Given the description of an element on the screen output the (x, y) to click on. 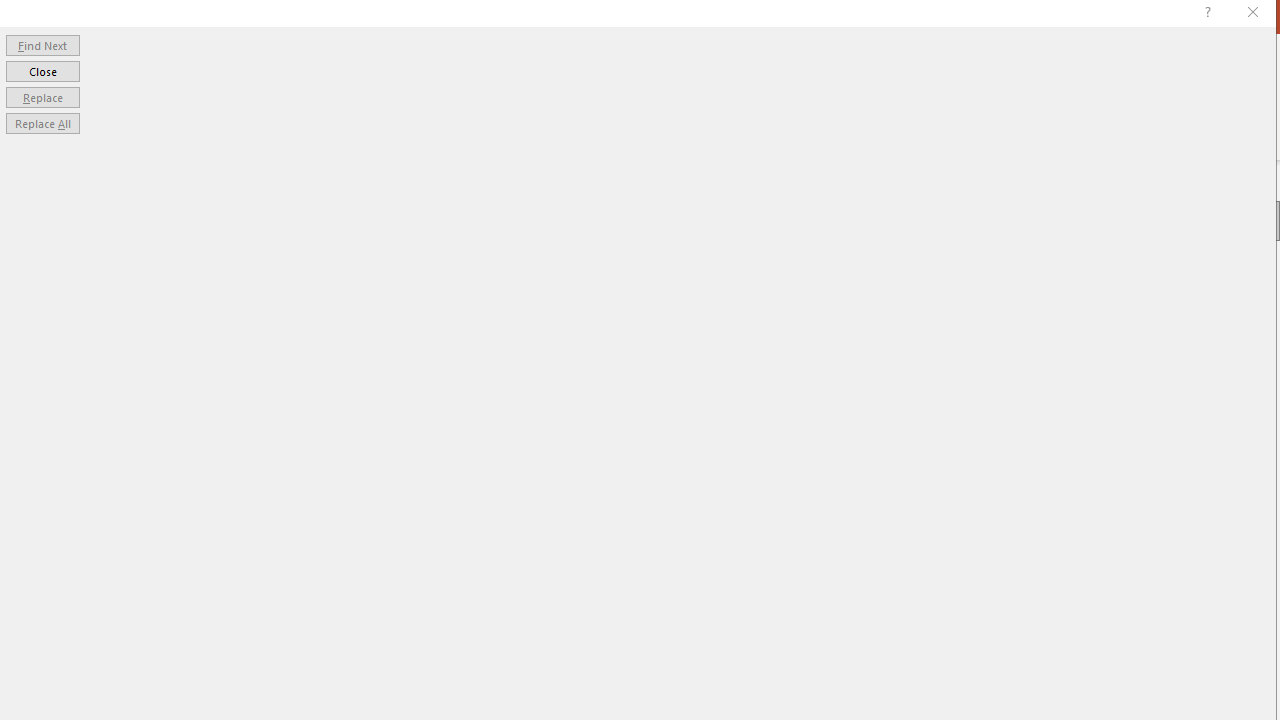
Class: NetUIGalleryContainer (1098, 223)
Replace (42, 96)
Pattern fill (1028, 366)
Fill Color RGB(255, 255, 255) (1182, 427)
Hide background graphics (1071, 391)
Replace All (42, 123)
